Given the description of an element on the screen output the (x, y) to click on. 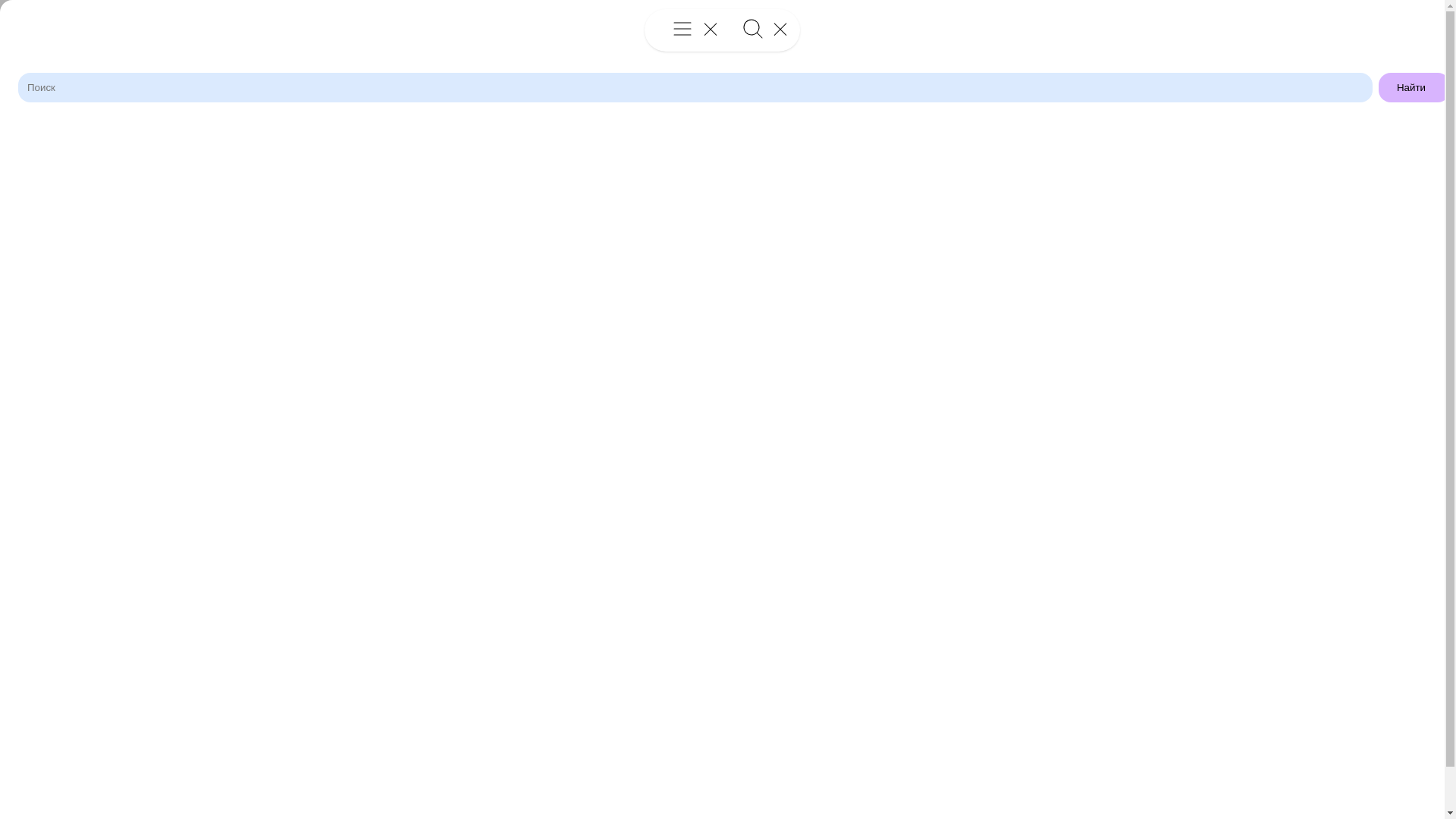
pedklassy.bspu@yandex.by Element type: text (1260, 591)
